Given the description of an element on the screen output the (x, y) to click on. 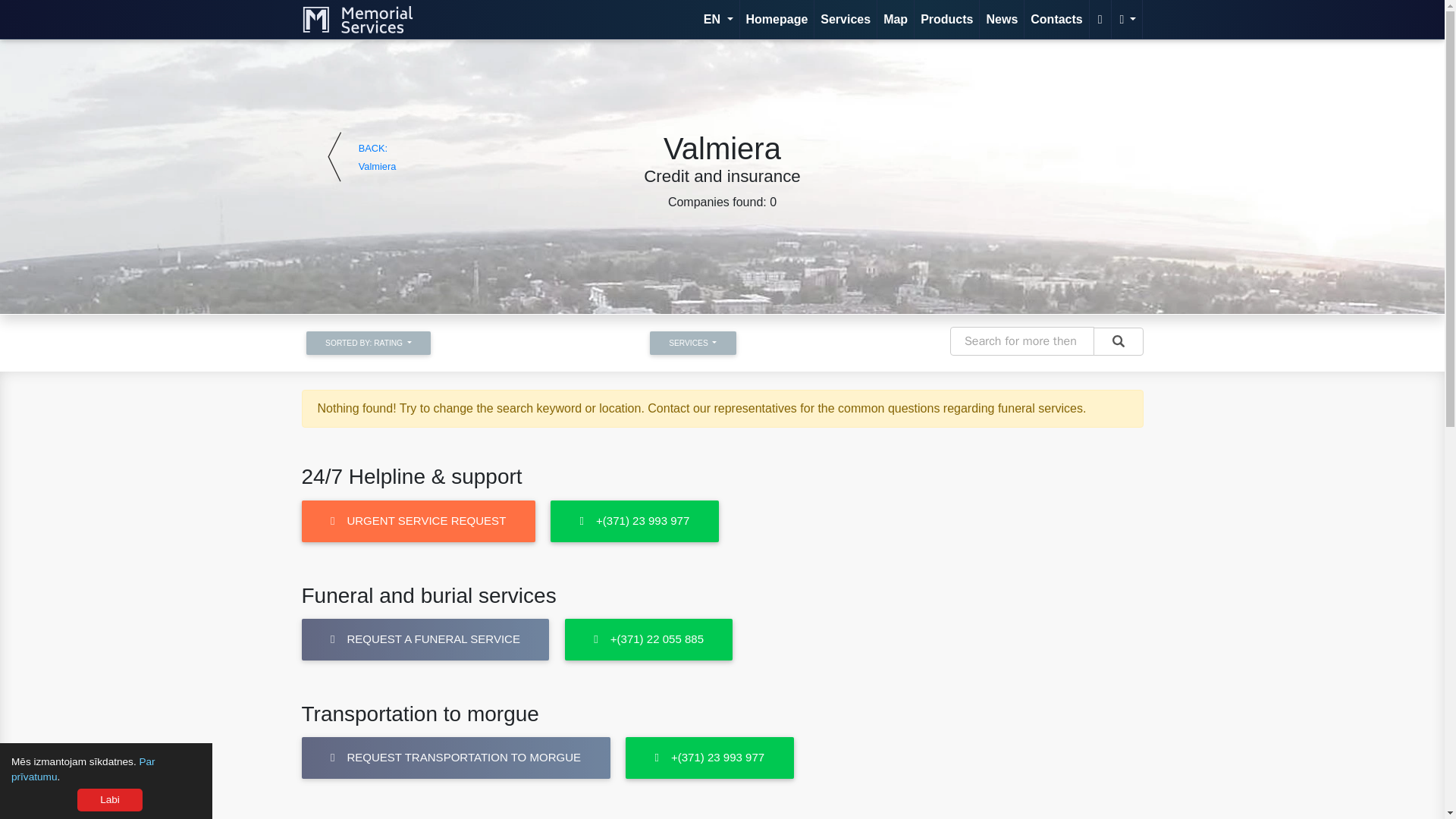
SORTED BY: RATING (367, 342)
Request transportation to morgue (455, 757)
Services (844, 19)
Services (844, 19)
Urgent service request (418, 521)
Request a funeral service (425, 639)
Contacts (1055, 19)
News (1000, 19)
News (1000, 19)
Request transportation to morgue (709, 757)
